Given the description of an element on the screen output the (x, y) to click on. 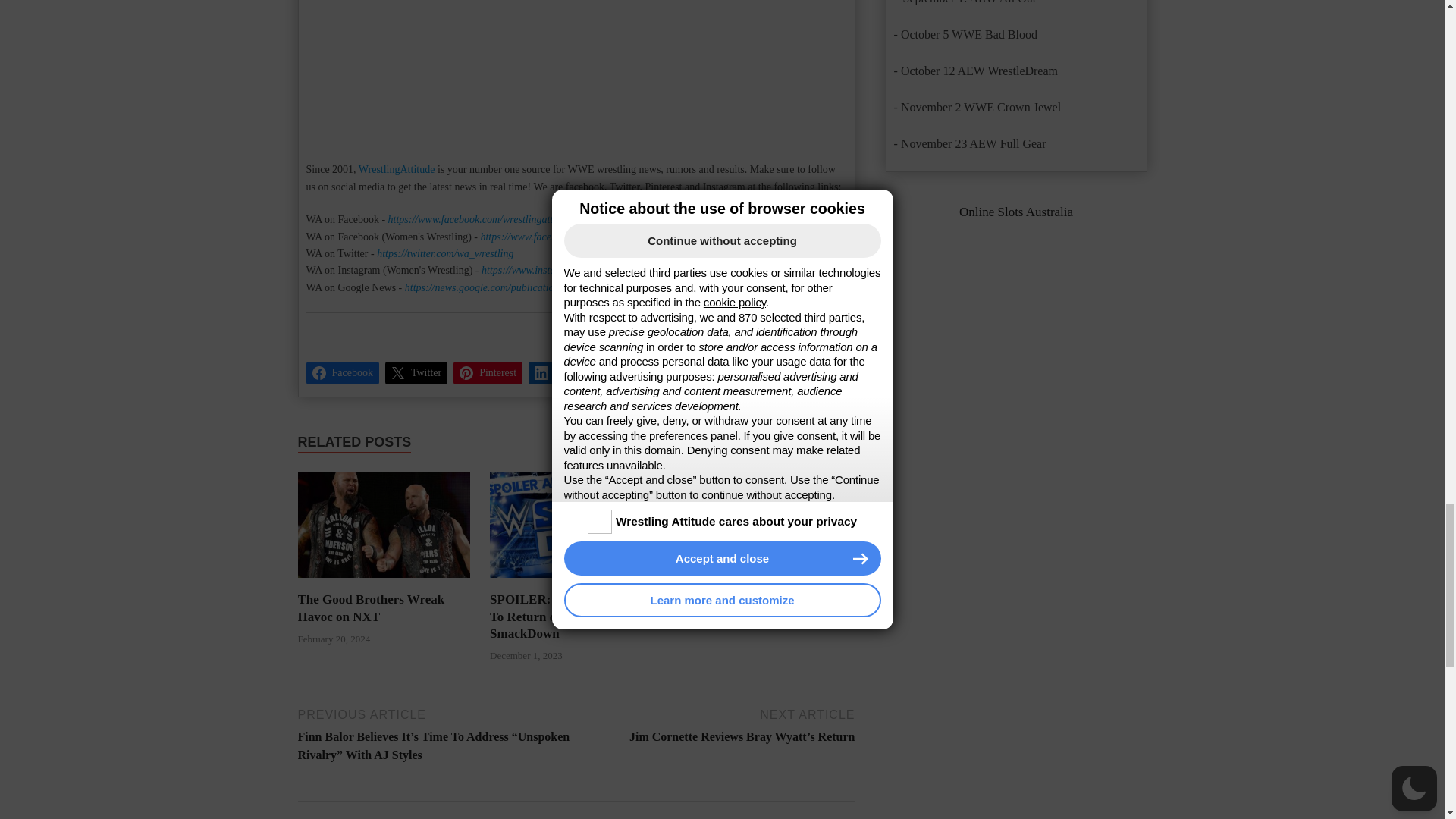
The Good Brothers Wreak Havoc on NXT (383, 524)
The Good Brothers Wreak Havoc on NXT (370, 607)
The Good Brothers Wreak Havoc on NXT (383, 581)
